Given the description of an element on the screen output the (x, y) to click on. 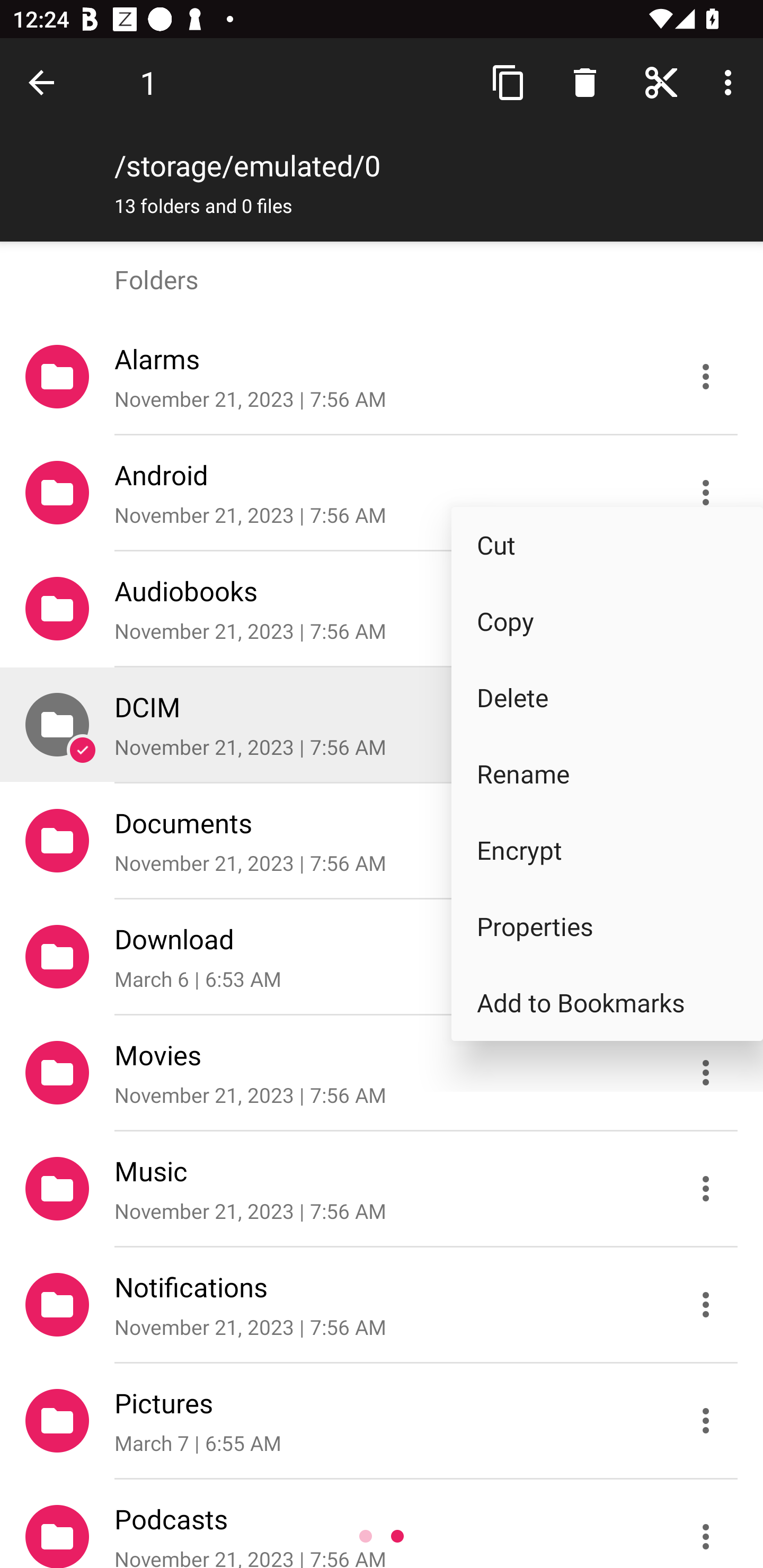
Cut (607, 544)
Copy (607, 621)
Delete (607, 697)
Rename (607, 773)
Encrypt (607, 850)
Properties (607, 926)
Add to Bookmarks (607, 1002)
